Given the description of an element on the screen output the (x, y) to click on. 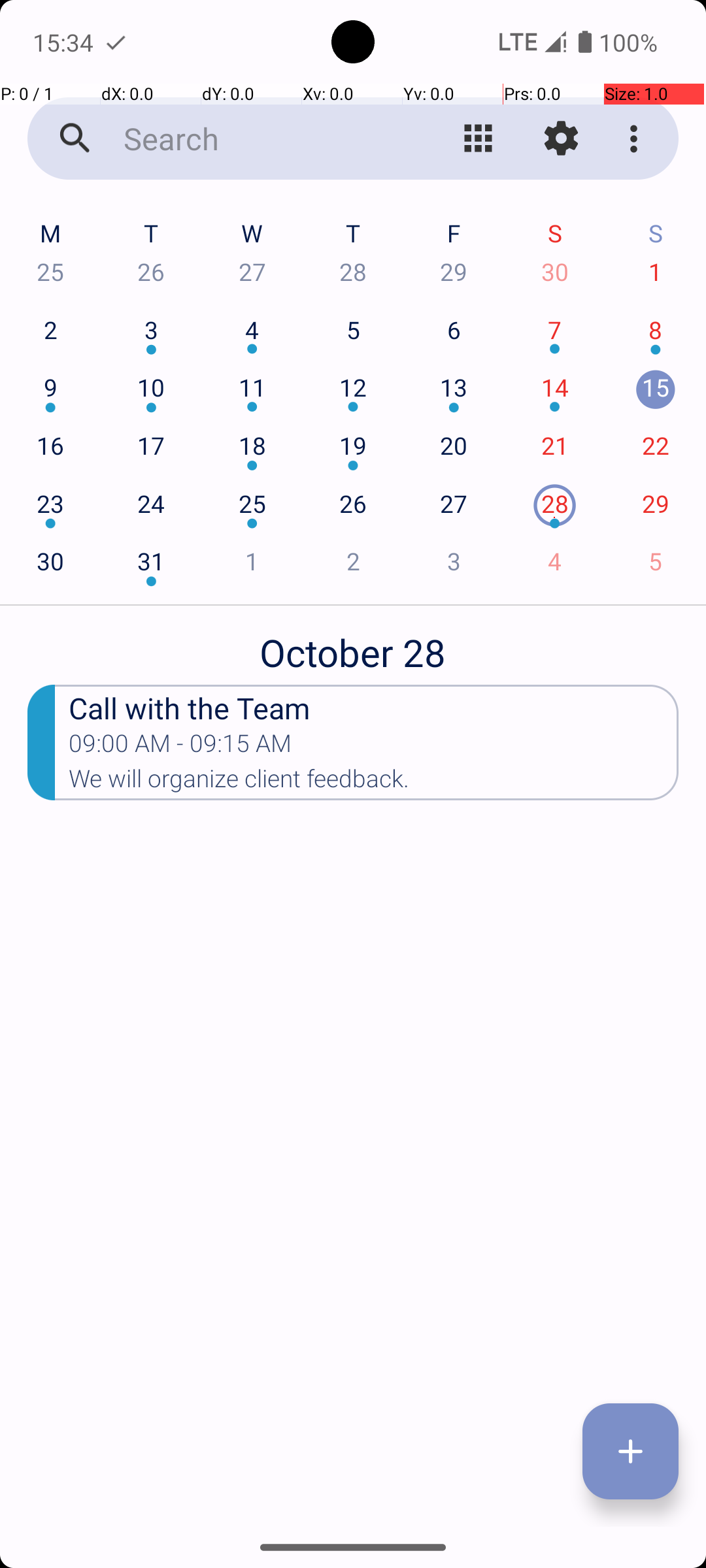
October 28 Element type: android.widget.TextView (352, 644)
09:00 AM - 09:15 AM Element type: android.widget.TextView (179, 747)
We will organize client feedback. Element type: android.widget.TextView (373, 782)
